Given the description of an element on the screen output the (x, y) to click on. 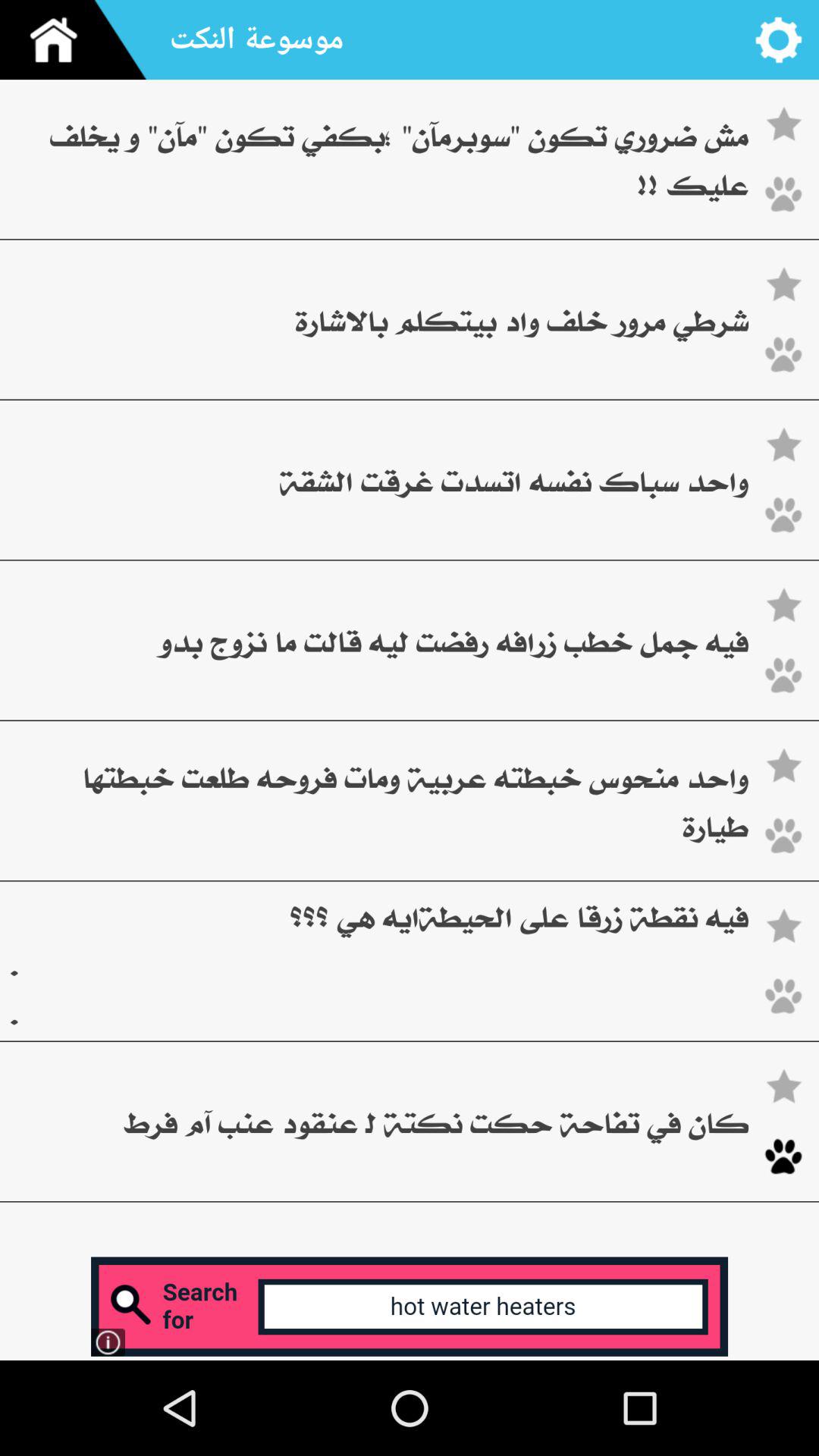
to view add (409, 1306)
